Given the description of an element on the screen output the (x, y) to click on. 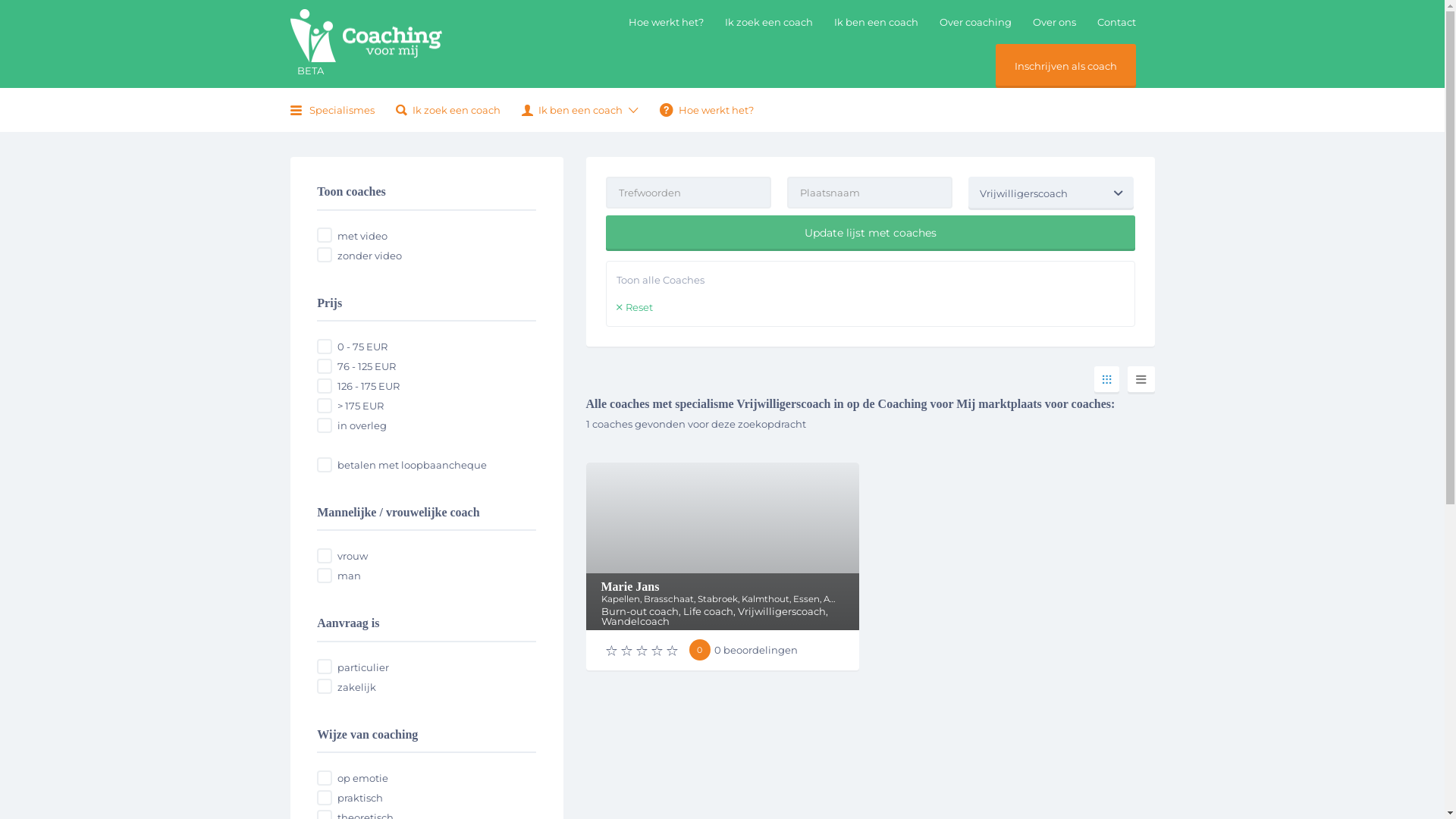
consumer Element type: text (324, 666)
76_125 Element type: text (324, 365)
male Element type: text (324, 575)
1 Element type: text (324, 464)
Ik zoek een coach Element type: text (447, 109)
Ik zoek een coach Element type: text (768, 21)
female Element type: text (324, 555)
practical Element type: text (324, 797)
yes Element type: text (324, 234)
Update lijst met coaches Element type: text (869, 233)
Over coaching Element type: text (974, 21)
Hoe werkt het? Element type: text (707, 109)
Vrijwilligerscoach Element type: text (1050, 193)
175plus Element type: text (324, 405)
business Element type: text (324, 685)
0_75 Element type: text (324, 346)
Contact Element type: text (1115, 21)
Reset Element type: text (633, 307)
Specialismes Element type: text (333, 109)
Hoe werkt het? Element type: text (664, 21)
no Element type: text (324, 254)
126_175 Element type: text (324, 385)
Inschrijven als coach Element type: text (1065, 65)
emotion Element type: text (324, 777)
Over ons Element type: text (1054, 21)
Ik ben een coach Element type: text (571, 109)
inagreement Element type: text (324, 425)
Ik ben een coach Element type: text (876, 21)
